Given the description of an element on the screen output the (x, y) to click on. 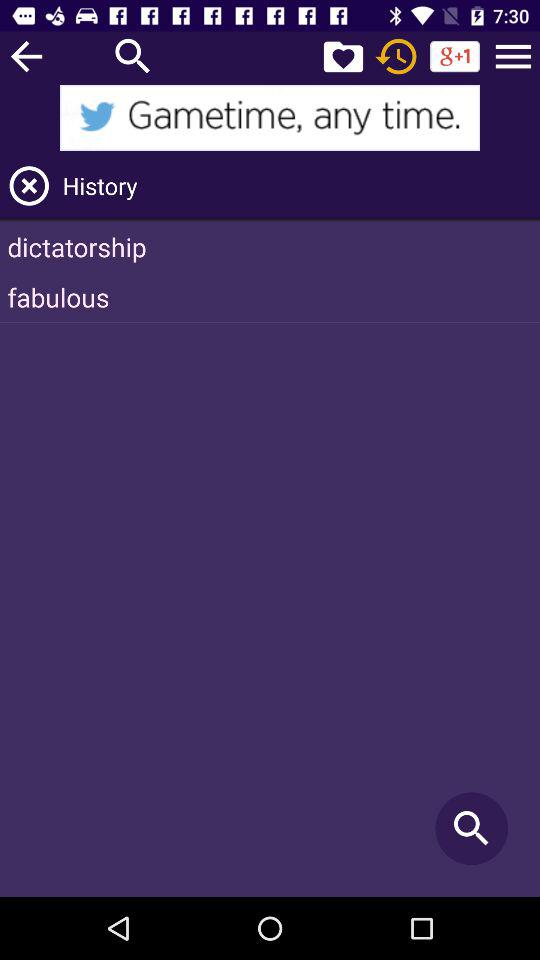
click the item below fabulous icon (471, 828)
